Given the description of an element on the screen output the (x, y) to click on. 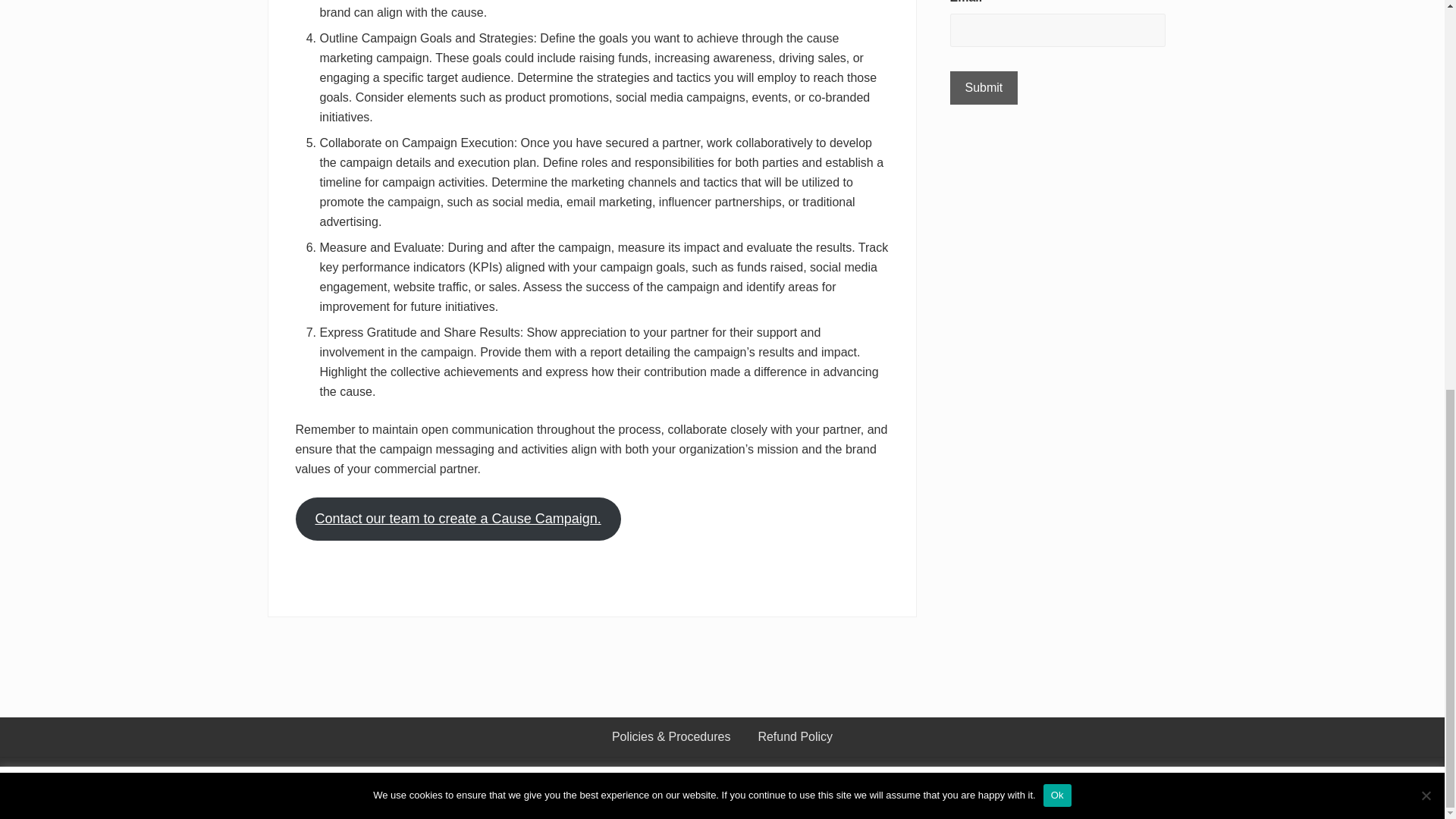
No (1425, 54)
Submit (983, 87)
Fundraising Doctor (714, 787)
Contact our team to create a Cause Campaign. (458, 518)
